Given the description of an element on the screen output the (x, y) to click on. 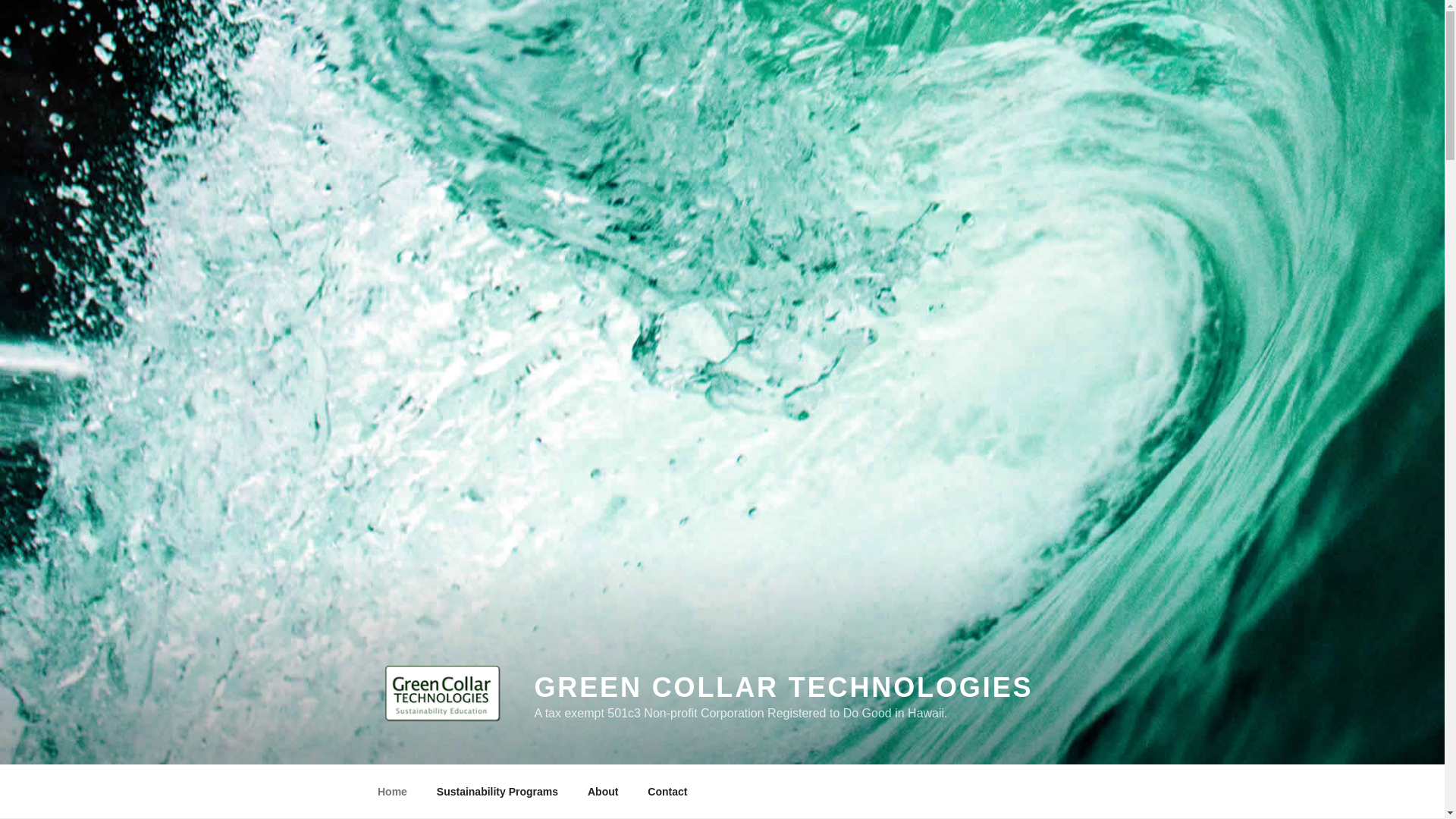
Scroll down to content (1082, 791)
Contact (667, 791)
Scroll down to content (1082, 791)
Sustainability Programs (496, 791)
About (601, 791)
Home (392, 791)
GREEN COLLAR TECHNOLOGIES (783, 686)
